Given the description of an element on the screen output the (x, y) to click on. 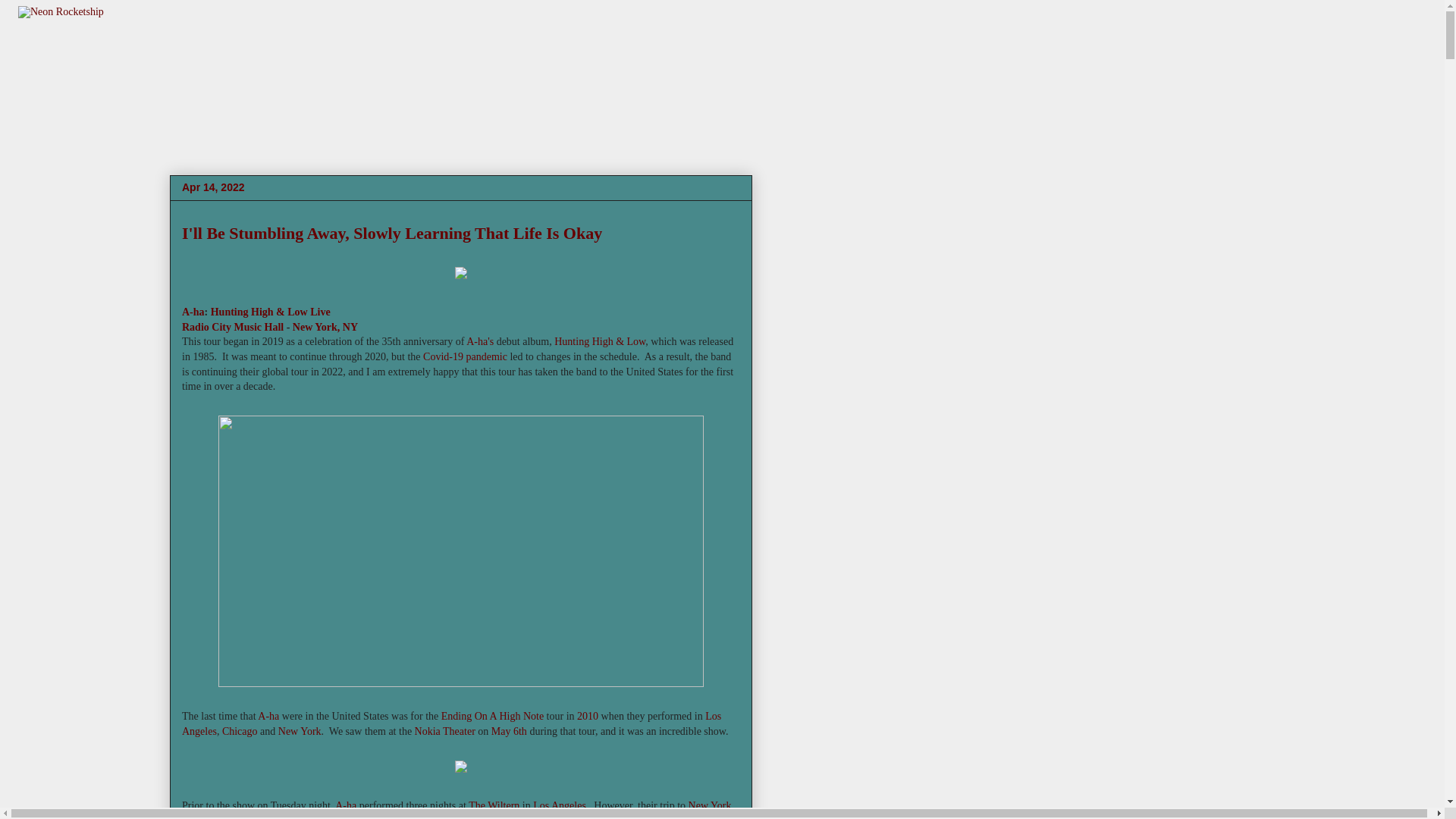
Los Angeles (451, 723)
Los Angeles (559, 805)
New York, NY (325, 326)
Nokia Theater (445, 731)
Radio City Music Hall (232, 326)
Covid-19 pandemic (464, 356)
New York (299, 731)
May 6th (509, 731)
Radio City Music Hall (373, 816)
A-ha (345, 805)
A-ha (193, 311)
2010 (587, 715)
Ending On A High Note (492, 715)
New York (710, 805)
A-ha (268, 715)
